Given the description of an element on the screen output the (x, y) to click on. 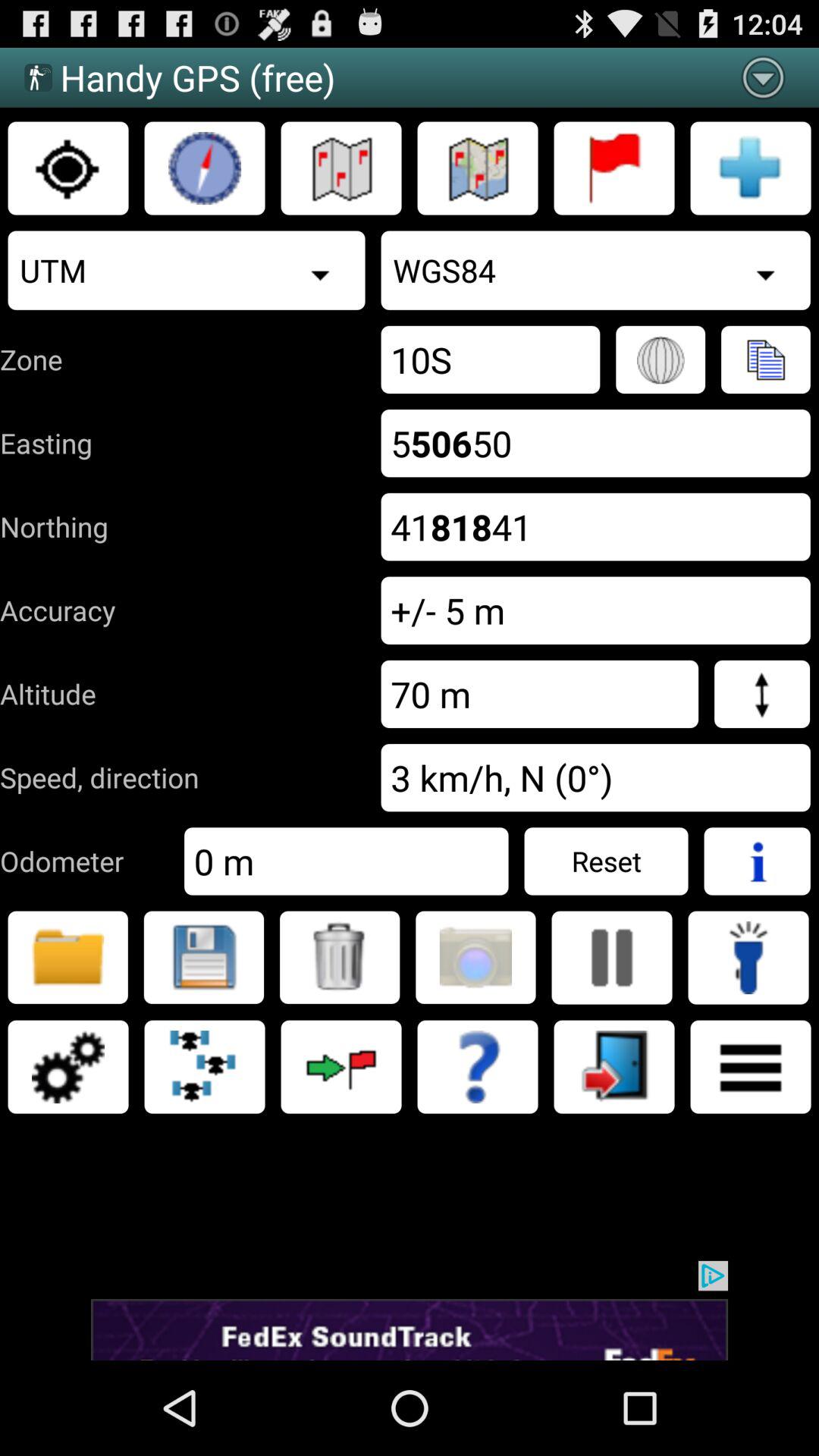
help (477, 1066)
